Given the description of an element on the screen output the (x, y) to click on. 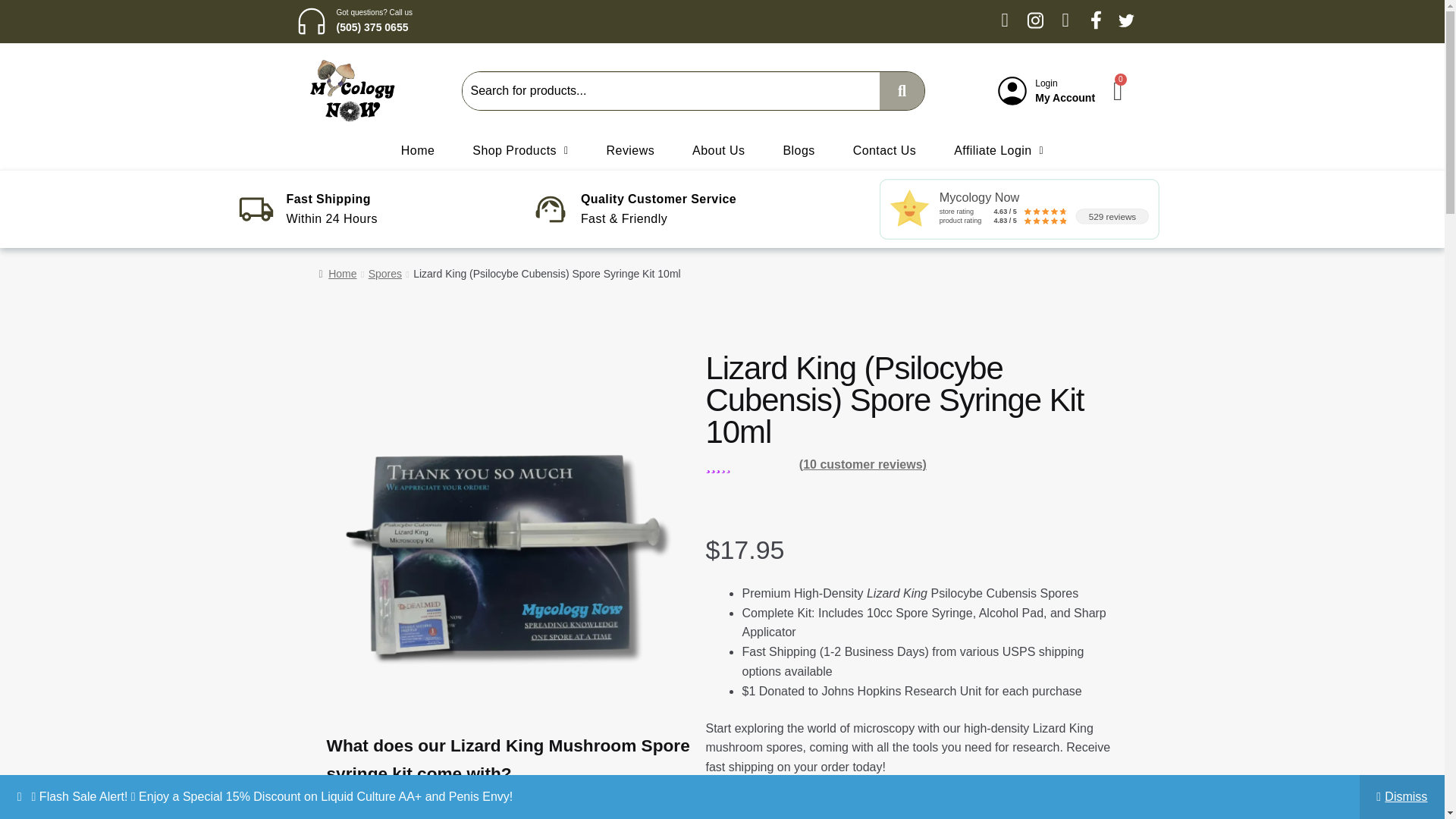
My Account (1064, 97)
Home (416, 150)
Search (671, 90)
Shop Products (519, 150)
